Given the description of an element on the screen output the (x, y) to click on. 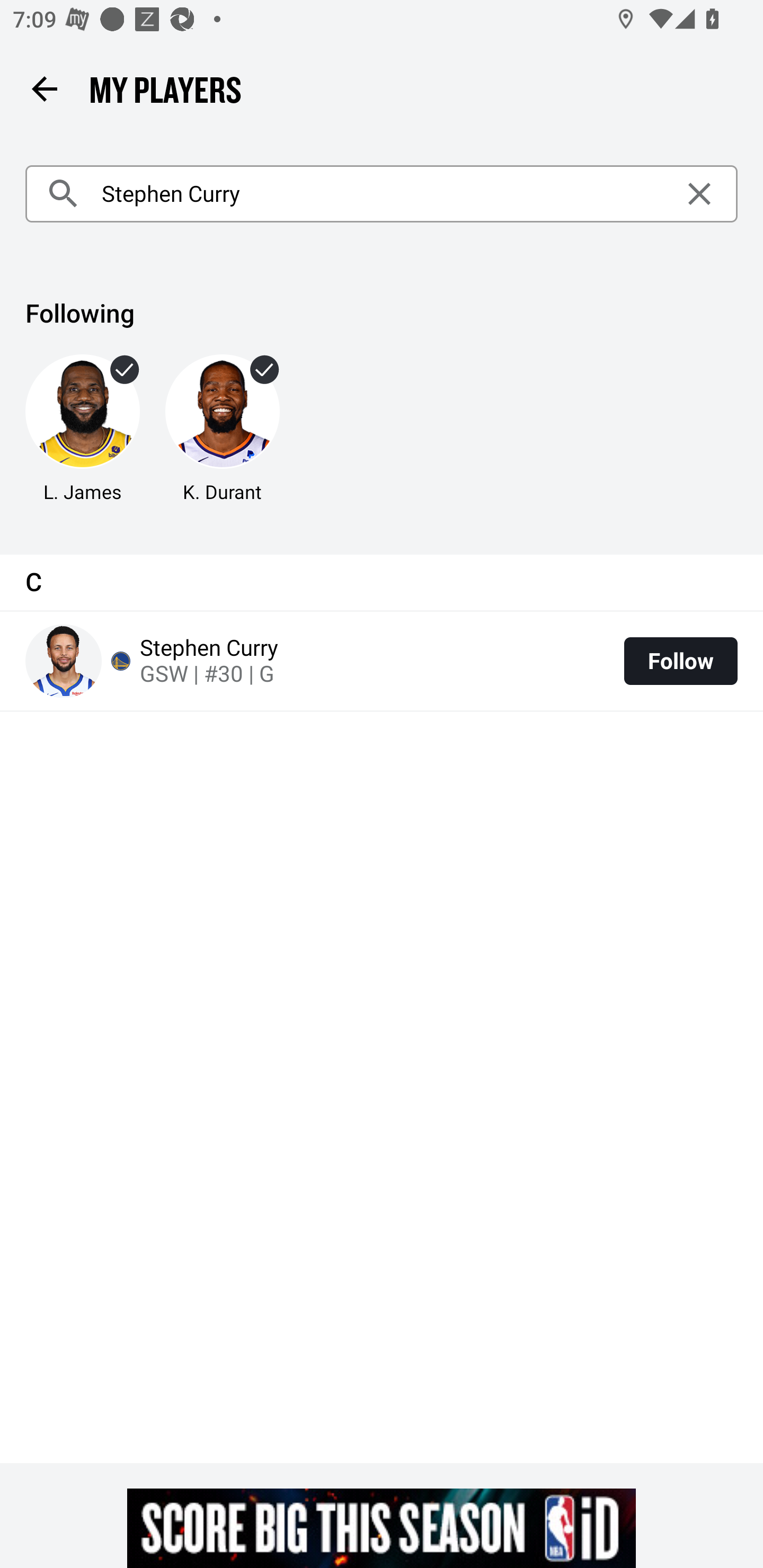
Back button (44, 88)
Stephen Curry (381, 193)
Follow (680, 660)
g5nqqygr7owph (381, 1528)
